Given the description of an element on the screen output the (x, y) to click on. 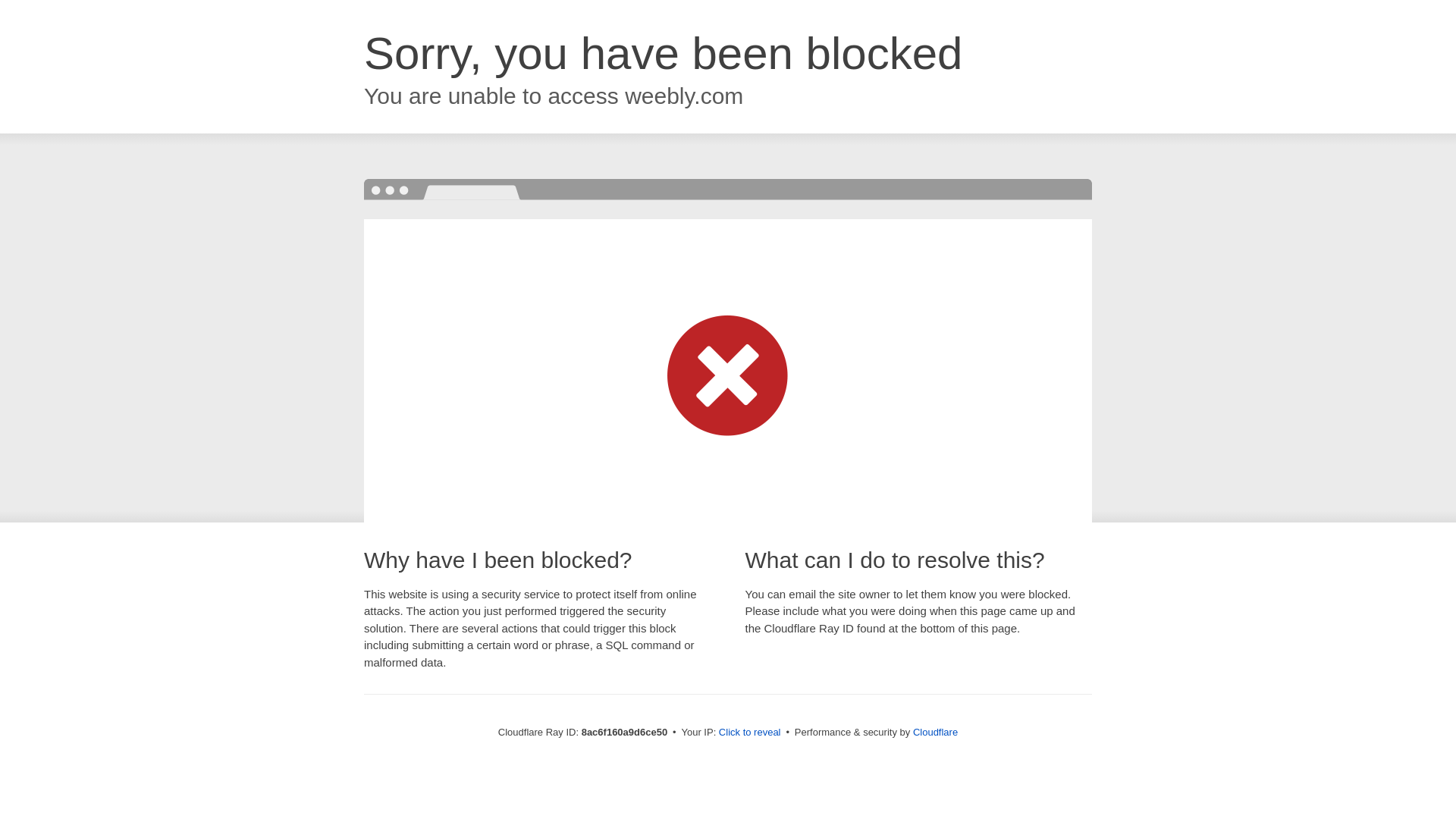
Cloudflare (935, 731)
Click to reveal (749, 732)
